Given the description of an element on the screen output the (x, y) to click on. 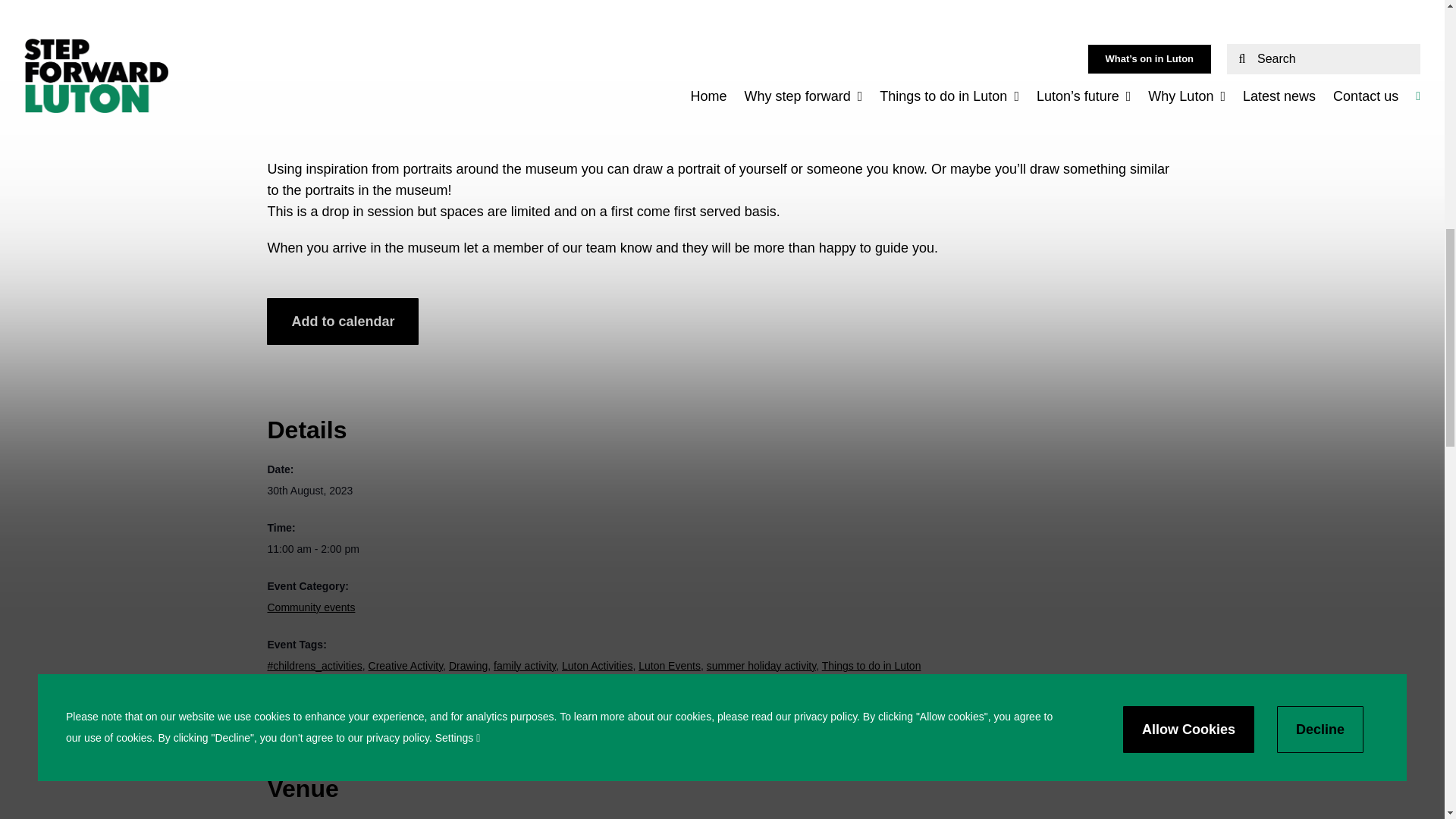
Add to calendar (342, 321)
2023-08-30 (721, 548)
2023-08-30 (309, 490)
